Given the description of an element on the screen output the (x, y) to click on. 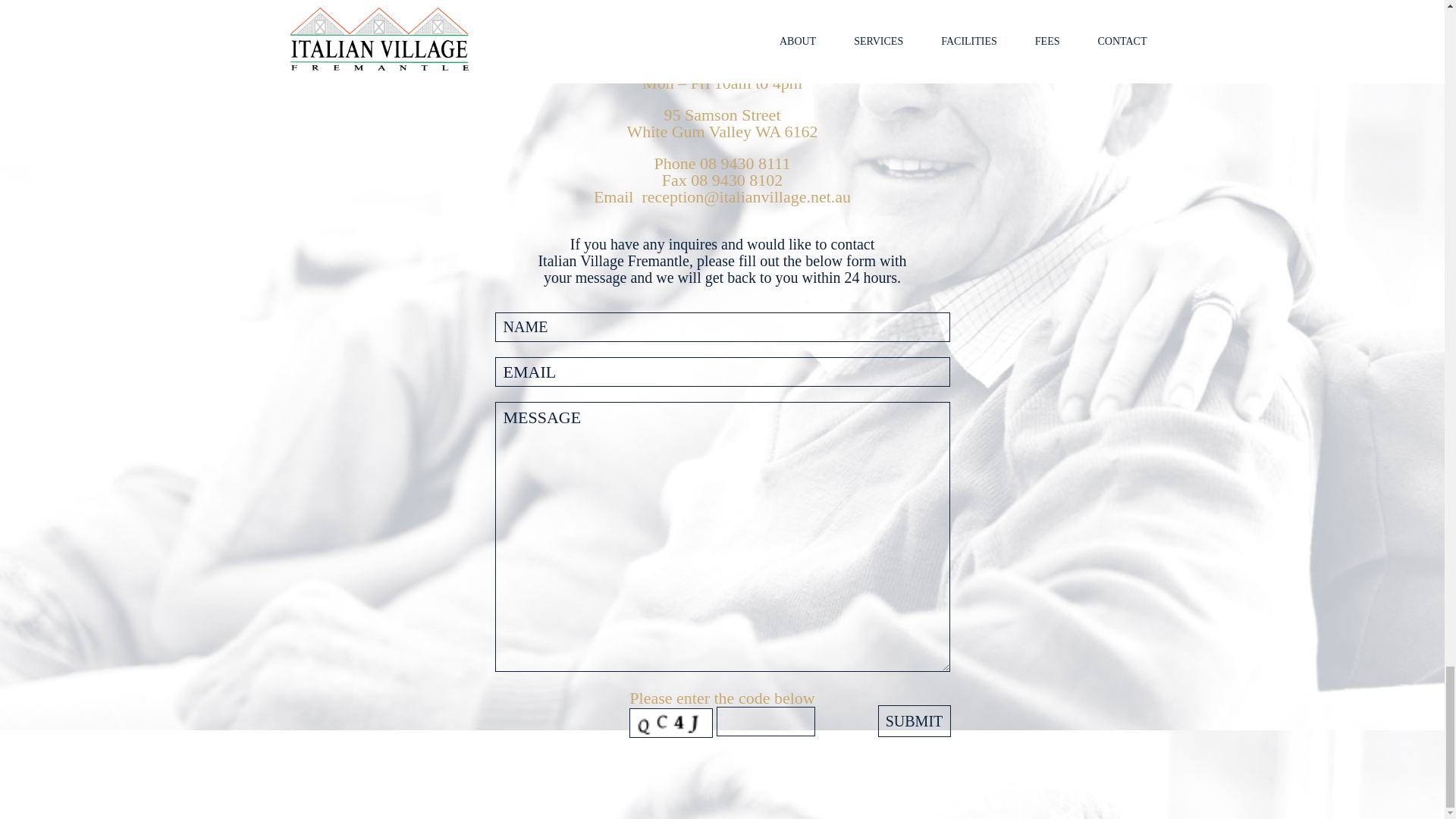
SUBMIT (913, 721)
SUBMIT (913, 721)
